Given the description of an element on the screen output the (x, y) to click on. 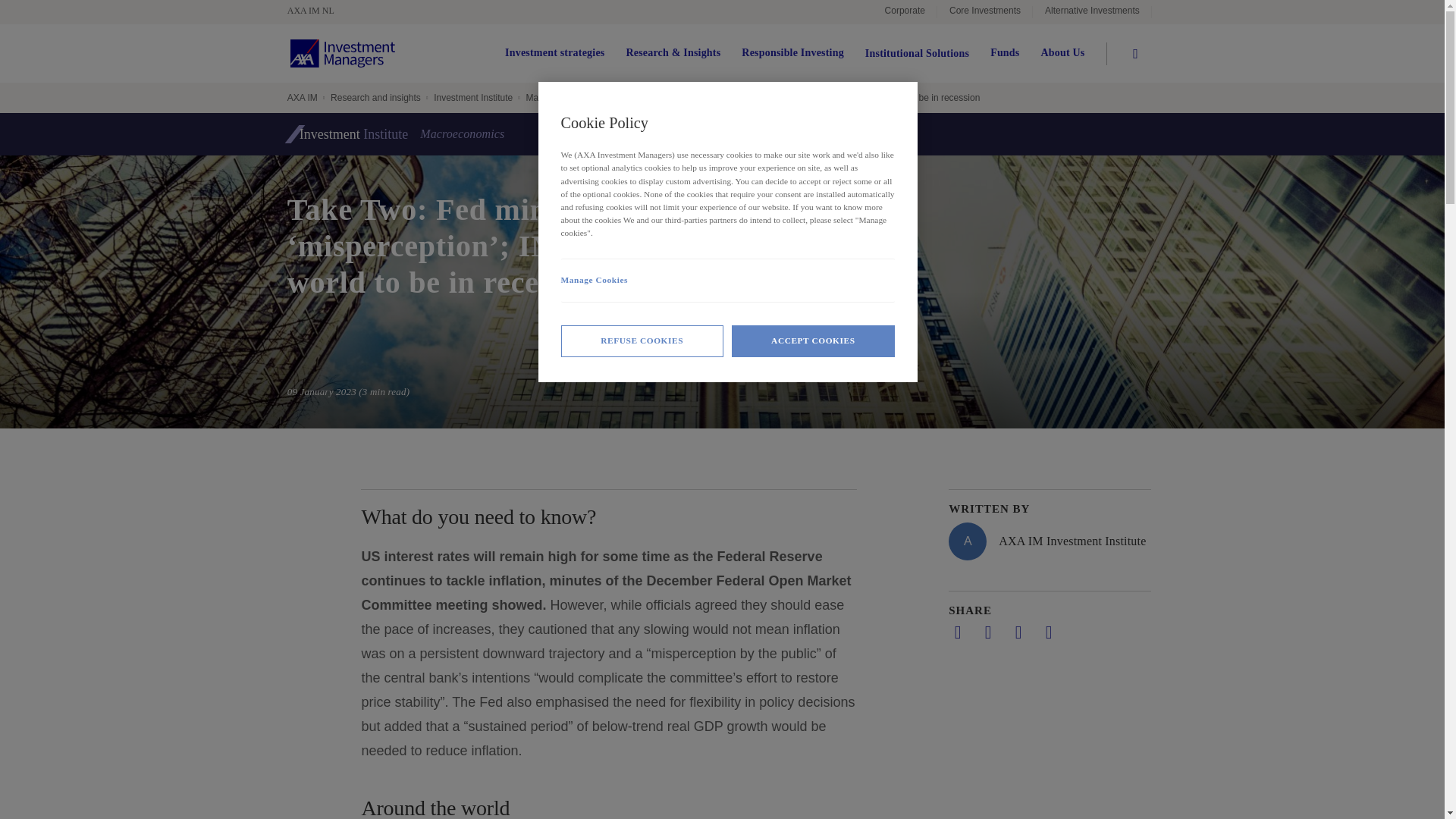
Share on LinkedIn - New window (957, 632)
AXA IM NL (317, 10)
Core Investments (984, 12)
Copy URL (1048, 632)
Alternative Investments (1091, 12)
Corporate (904, 12)
Investment strategies (554, 53)
Shared by mail (1018, 632)
AXA Investment Managers, Home (341, 53)
AXA IM NL, Home (317, 10)
